Given the description of an element on the screen output the (x, y) to click on. 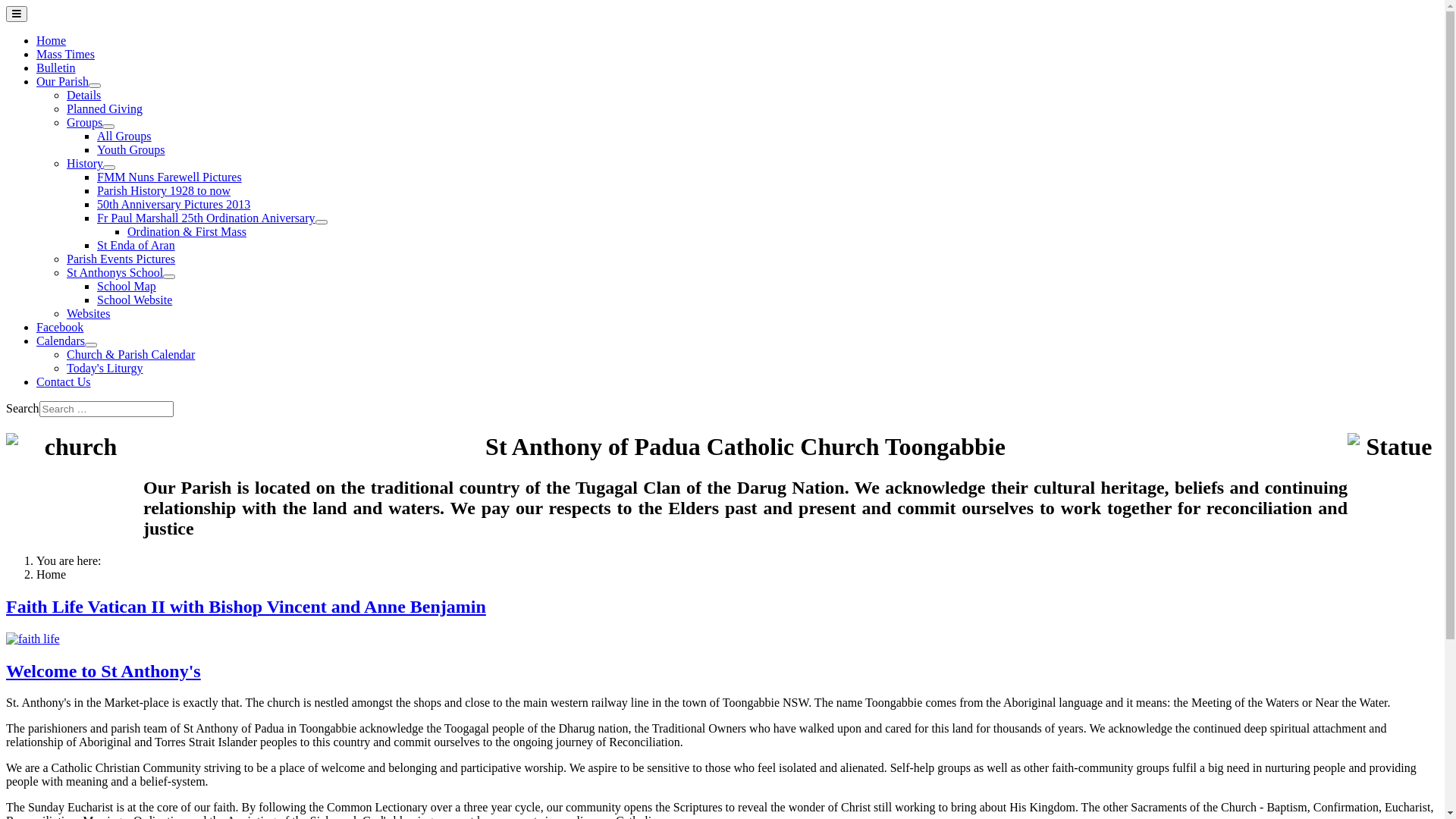
Home Element type: text (50, 40)
Our Parish Element type: text (62, 81)
School Website Element type: text (134, 299)
Details Element type: text (83, 94)
St Enda of Aran Element type: text (136, 244)
Planned Giving Element type: text (104, 108)
FMM Nuns Farewell Pictures Element type: text (169, 176)
Ordination & First Mass Element type: text (186, 231)
Mass Times Element type: text (65, 53)
Groups Element type: text (84, 122)
Today's Liturgy Element type: text (104, 367)
Calendars Element type: text (60, 340)
Faith Life Vatican II with Bishop Vincent and Anne Benjamin Element type: text (246, 606)
Parish History 1928 to now Element type: text (163, 190)
Youth Groups Element type: text (131, 149)
School Map Element type: text (126, 285)
Contact Us Element type: text (63, 381)
Bulletin Element type: text (55, 67)
Websites Element type: text (87, 313)
Facebook Element type: text (59, 326)
Church & Parish Calendar Element type: text (130, 354)
History Element type: text (84, 162)
All Groups Element type: text (124, 135)
Welcome to St Anthony's Element type: text (103, 670)
St Anthonys School Element type: text (114, 272)
Fr Paul Marshall 25th Ordination Aniversary Element type: text (206, 217)
50th Anniversary Pictures 2013 Element type: text (173, 203)
Parish Events Pictures Element type: text (120, 258)
